Given the description of an element on the screen output the (x, y) to click on. 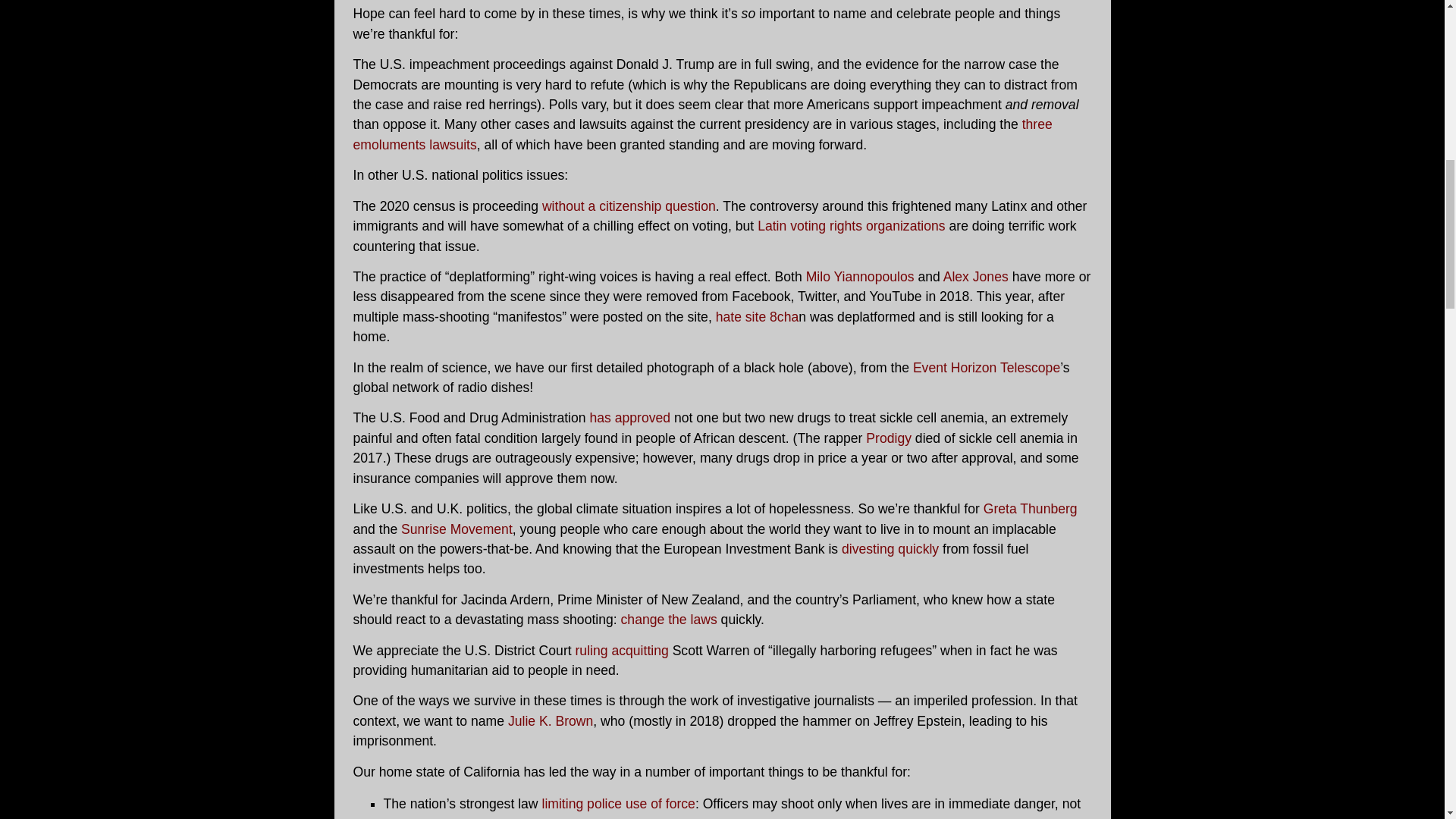
Alex Jones (977, 276)
ruling acquitting (621, 650)
Greta Thunberg (1030, 508)
Sunrise Movement (456, 529)
has approved (629, 417)
Prodigy (888, 437)
three emoluments lawsuits (702, 134)
Milo Yiannopoulos (860, 276)
without a citizenship question (628, 206)
divesting quickly (890, 548)
limiting police use of force (617, 803)
change the laws (669, 619)
hate site 8cha (757, 316)
Latin voting rights organizations (850, 225)
Julie K. Brown (550, 720)
